Given the description of an element on the screen output the (x, y) to click on. 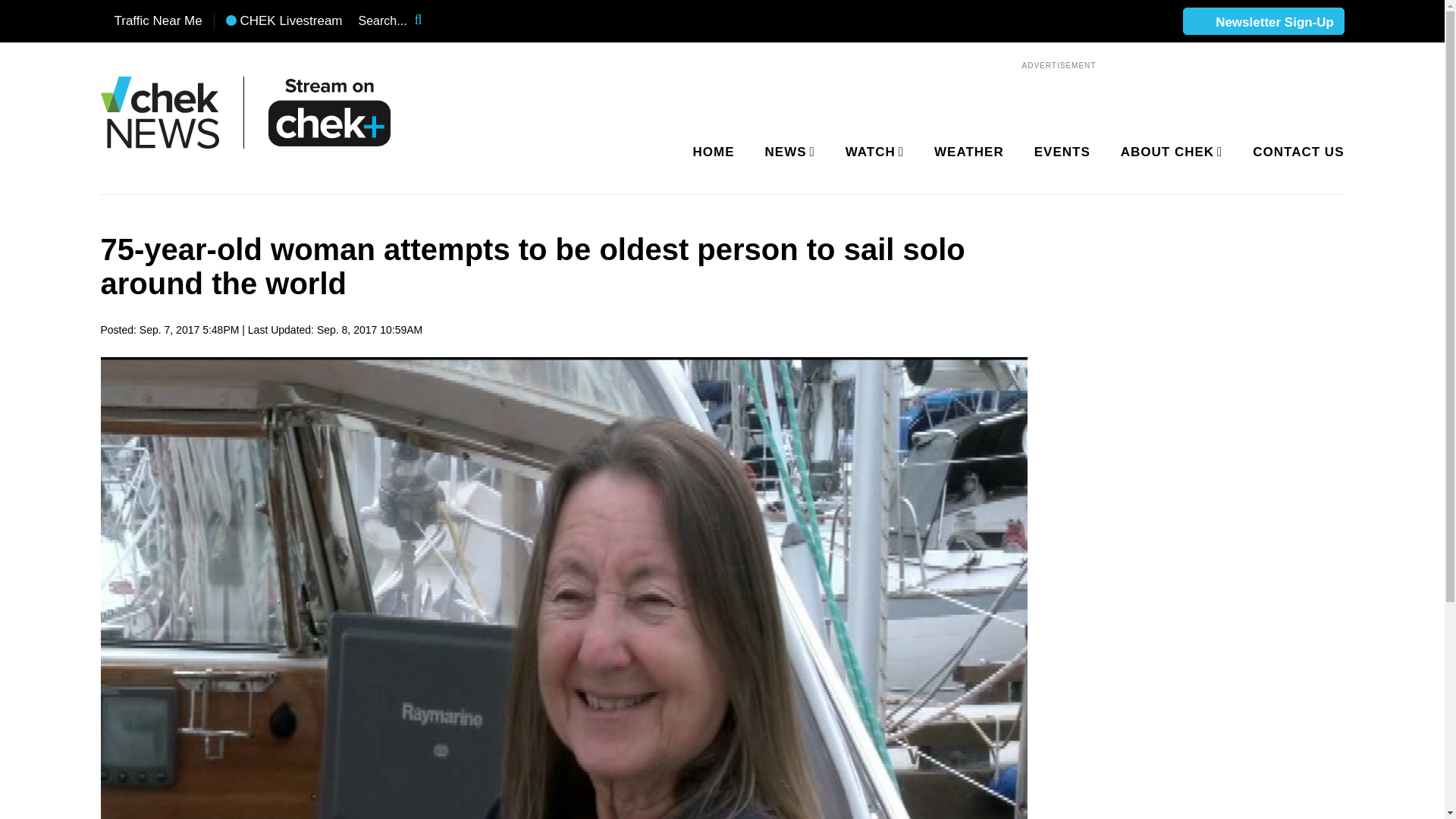
Newsletter Sign-Up (1262, 22)
Search (428, 21)
Traffic Near Me (151, 20)
HOME (714, 152)
NEWS (787, 152)
CHEK Livestream (283, 20)
